Given the description of an element on the screen output the (x, y) to click on. 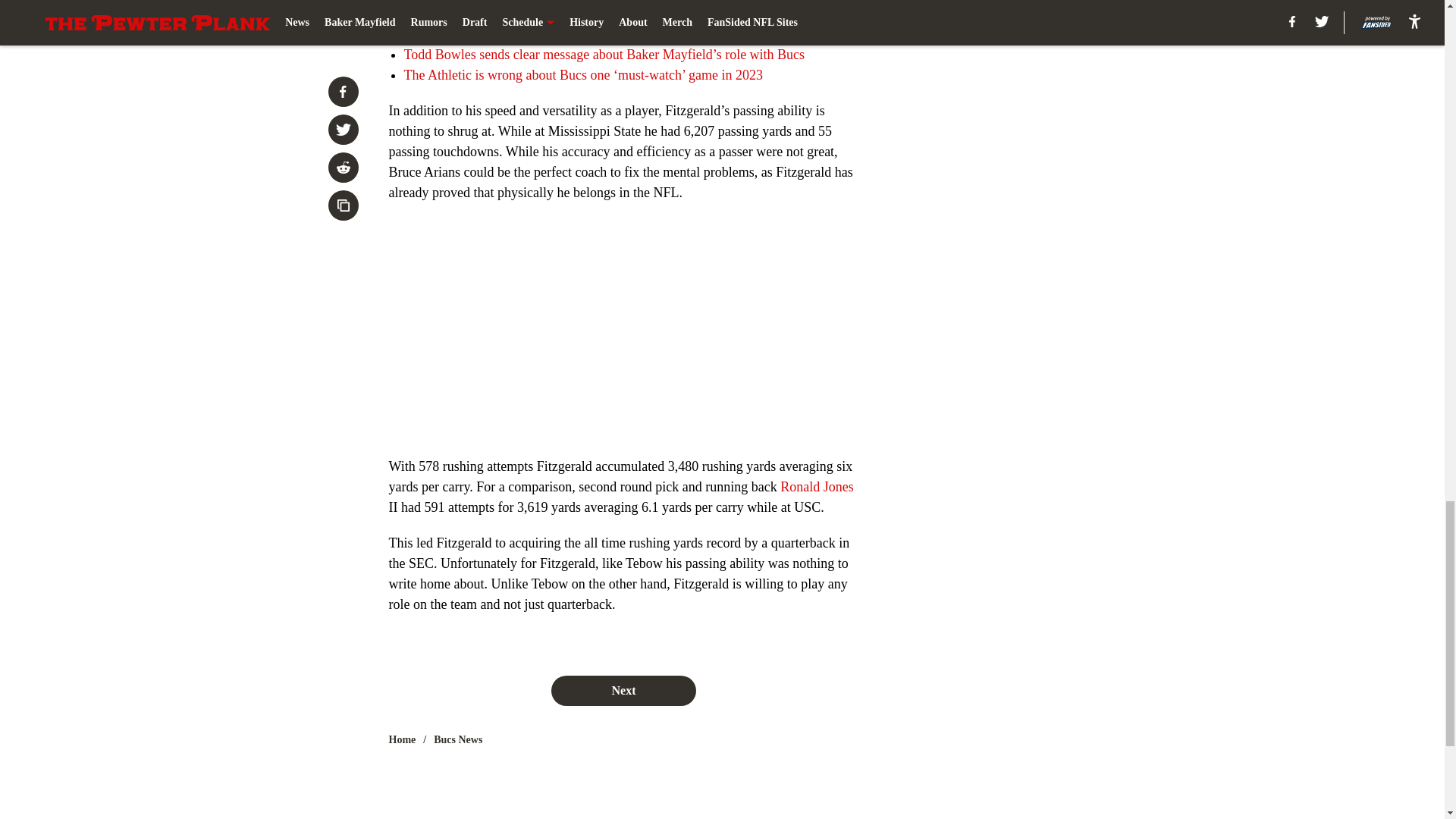
Bucs News (457, 739)
Next (622, 690)
Home (401, 739)
ESPN predicts surprising outcome to Devin White trade saga (570, 13)
Ronald Jones (816, 486)
